Given the description of an element on the screen output the (x, y) to click on. 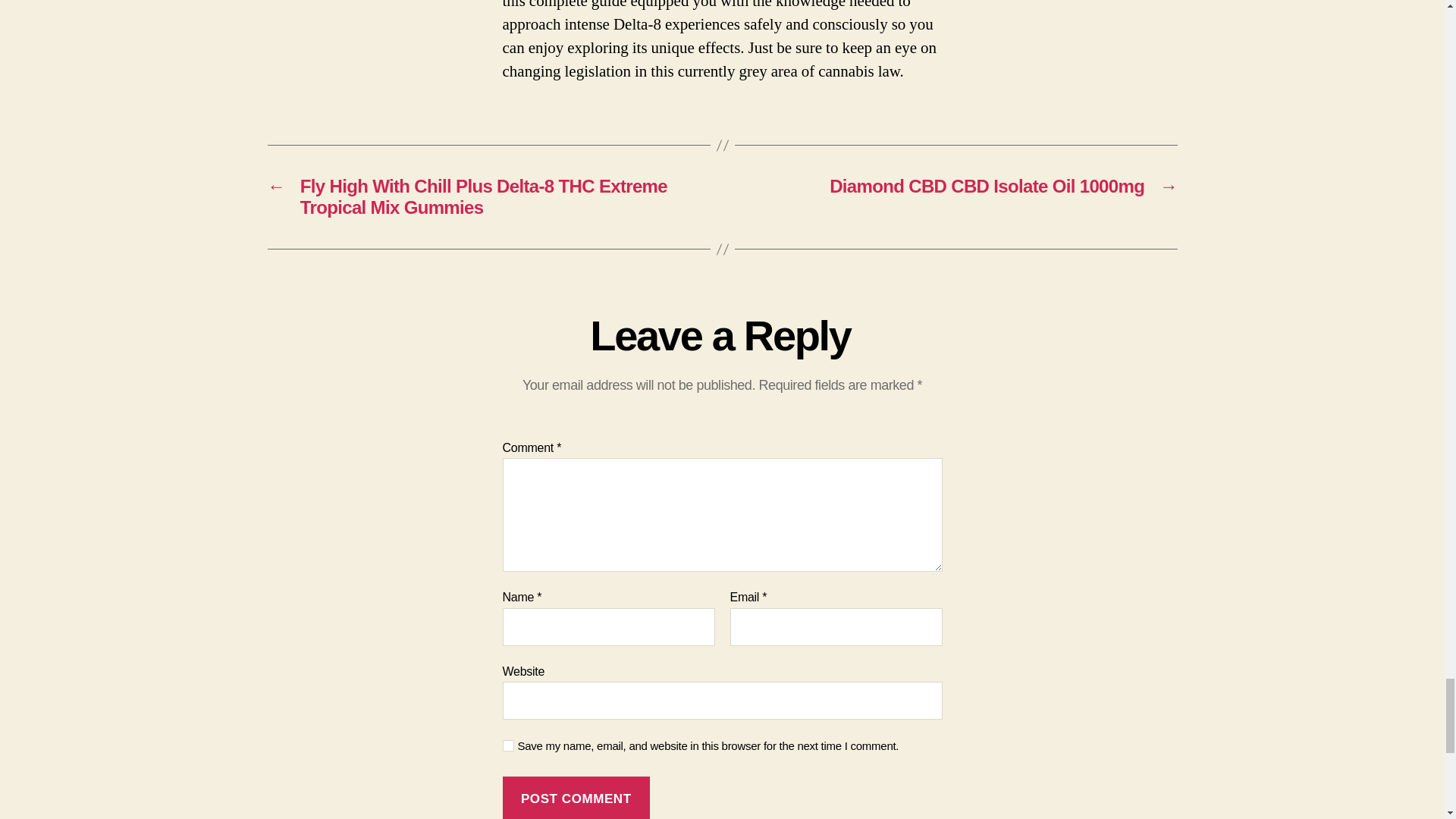
Post Comment (575, 797)
Post Comment (575, 797)
yes (507, 745)
